Given the description of an element on the screen output the (x, y) to click on. 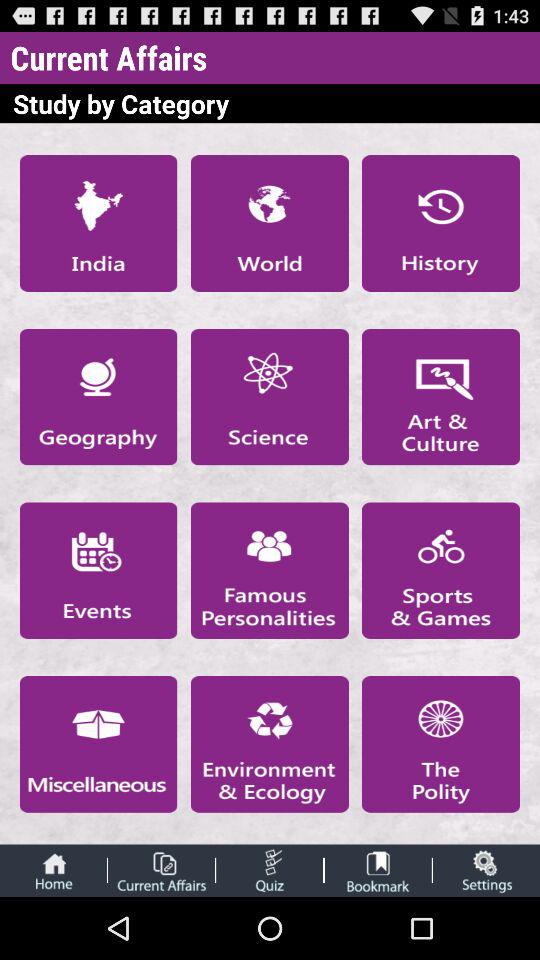
open famous personalities category (269, 570)
